Given the description of an element on the screen output the (x, y) to click on. 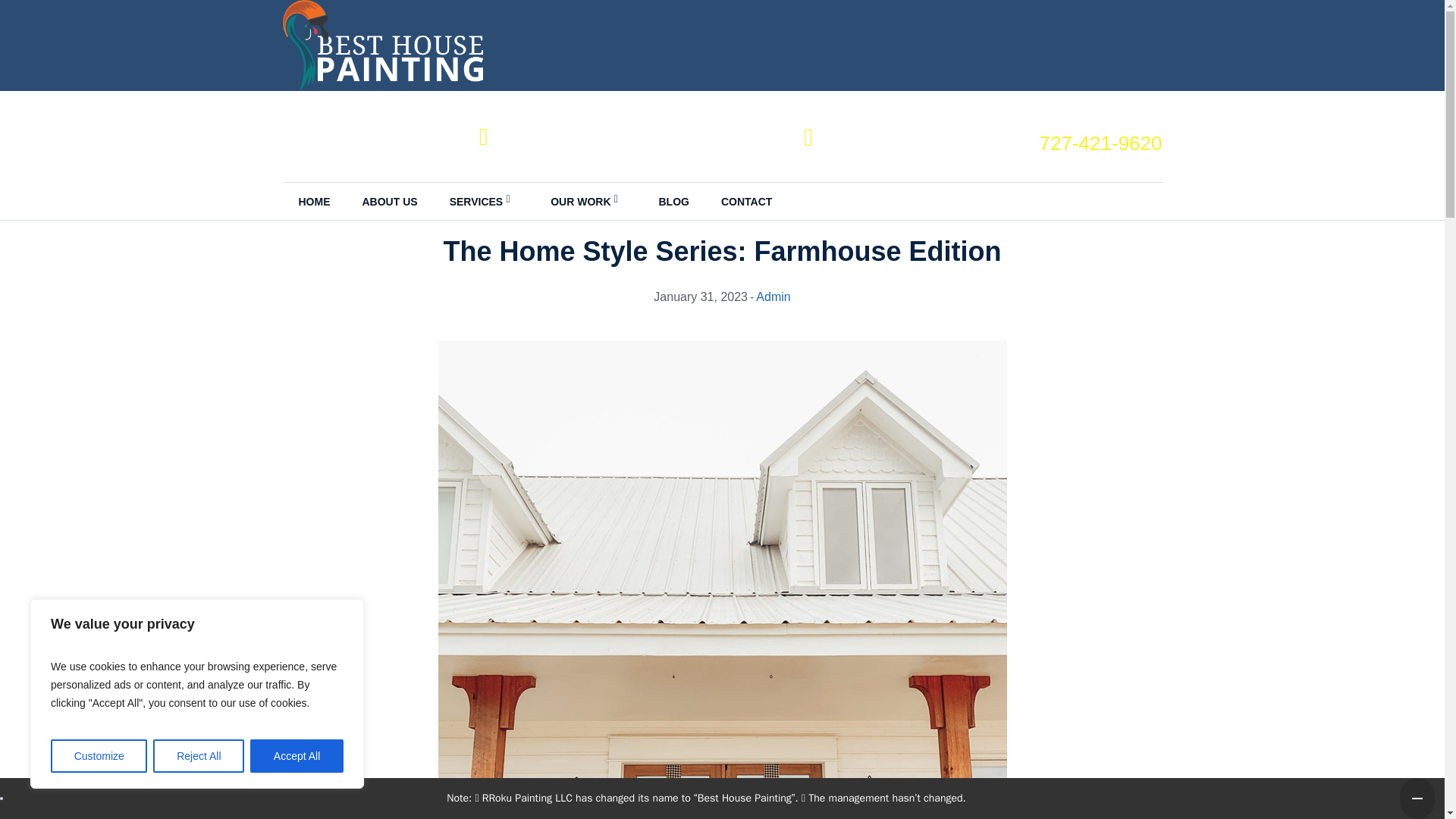
BLOG (673, 201)
Customize (98, 756)
CONTACT (745, 201)
SERVICES (484, 201)
Posts by Admin (772, 296)
Admin (772, 296)
HOME (314, 201)
Accept All (296, 756)
The Home Style Series: Farmhouse Edition (722, 717)
